Given the description of an element on the screen output the (x, y) to click on. 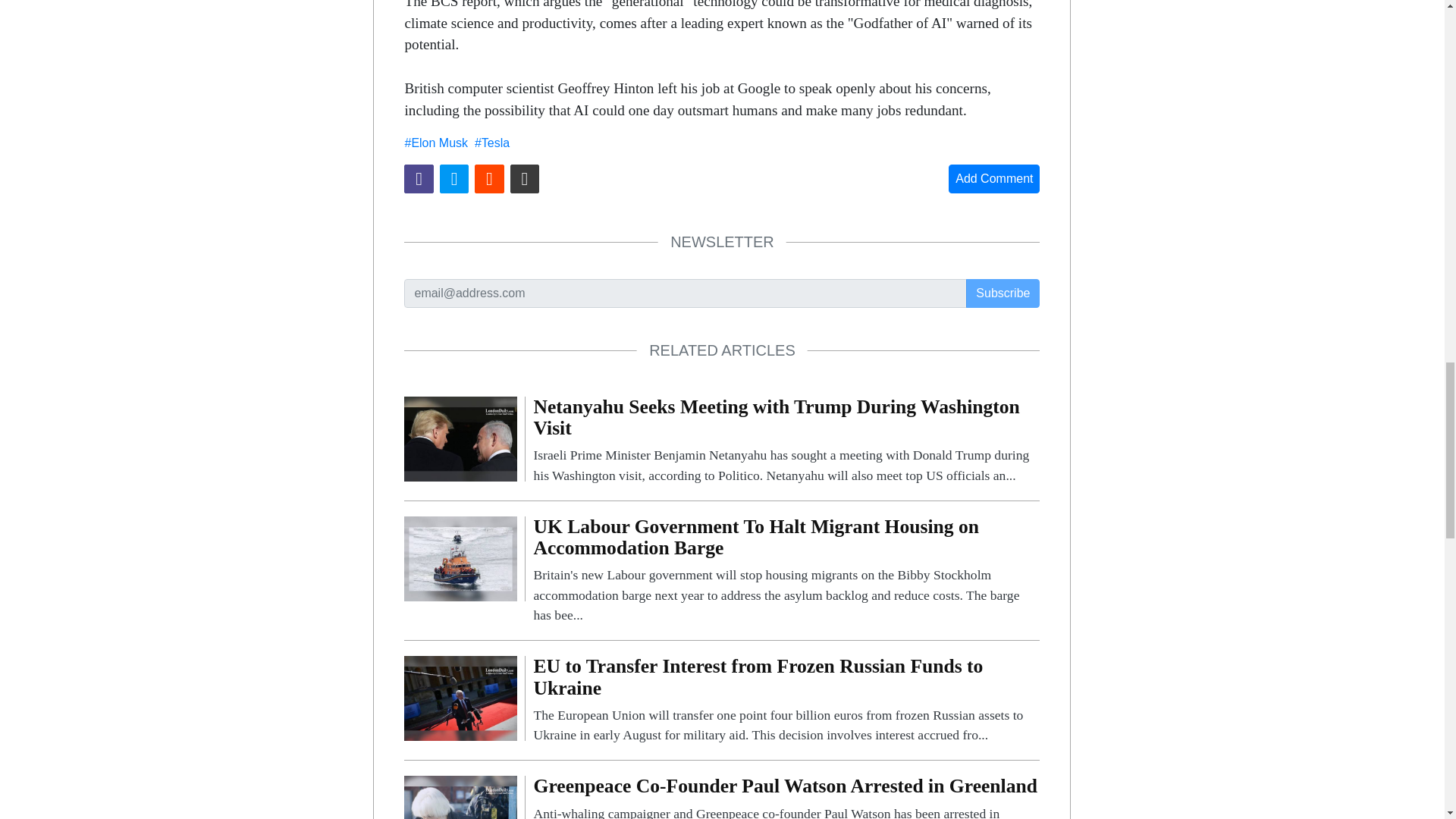
Netanyahu Seeks Meeting with Trump During Washington Visit (785, 440)
Greenpeace Co-Founder Paul Watson Arrested in Greenland (785, 797)
EU to Transfer Interest from Frozen Russian Funds to Ukraine (460, 697)
EU to Transfer Interest from Frozen Russian Funds to Ukraine (785, 700)
Greenpeace Co-Founder Paul Watson Arrested in Greenland (460, 815)
Subscribe (1002, 293)
Netanyahu Seeks Meeting with Trump During Washington Visit (460, 437)
Add Comment (994, 178)
